Given the description of an element on the screen output the (x, y) to click on. 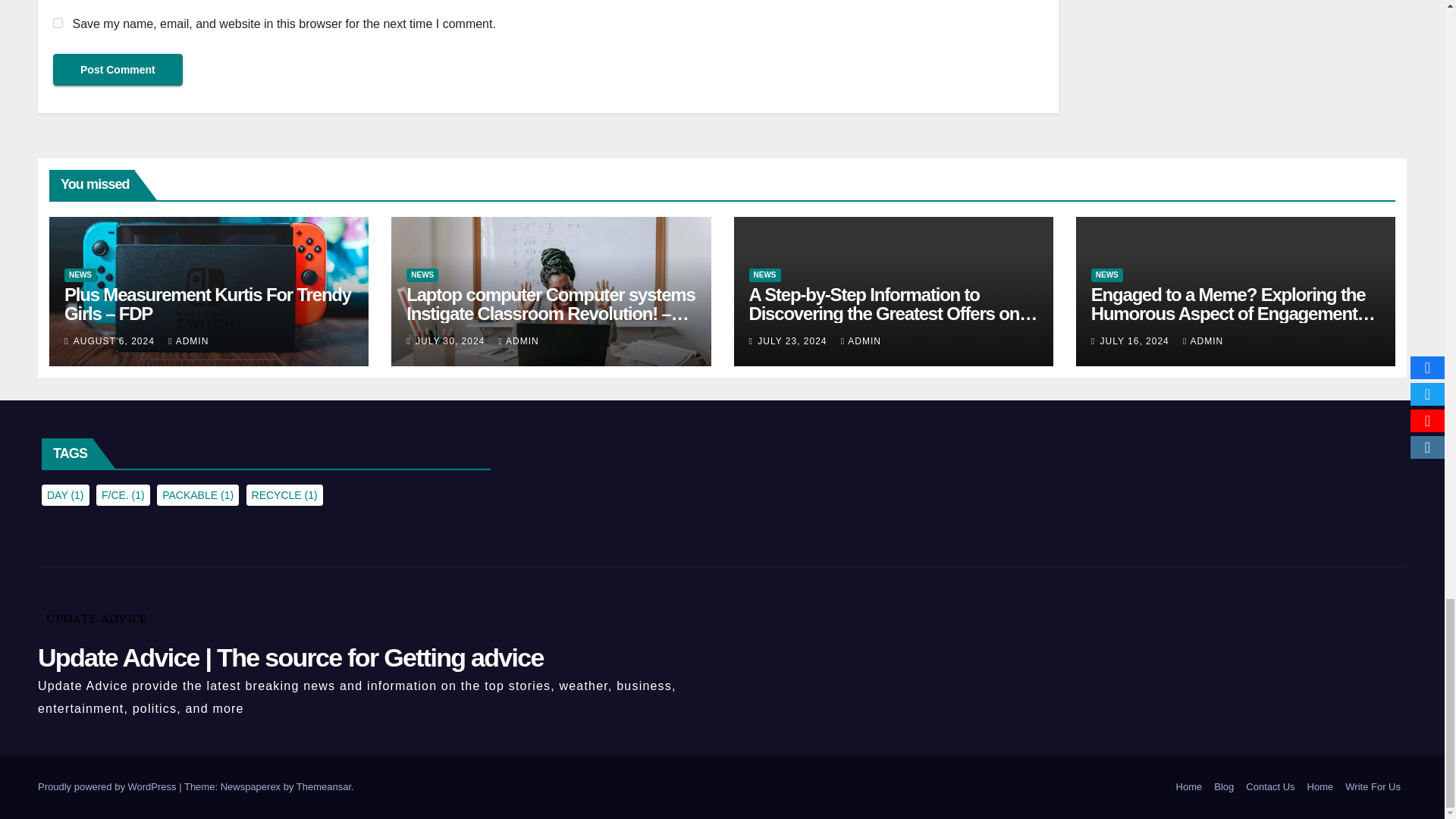
Post Comment (117, 69)
Home (1189, 786)
yes (57, 22)
